Given the description of an element on the screen output the (x, y) to click on. 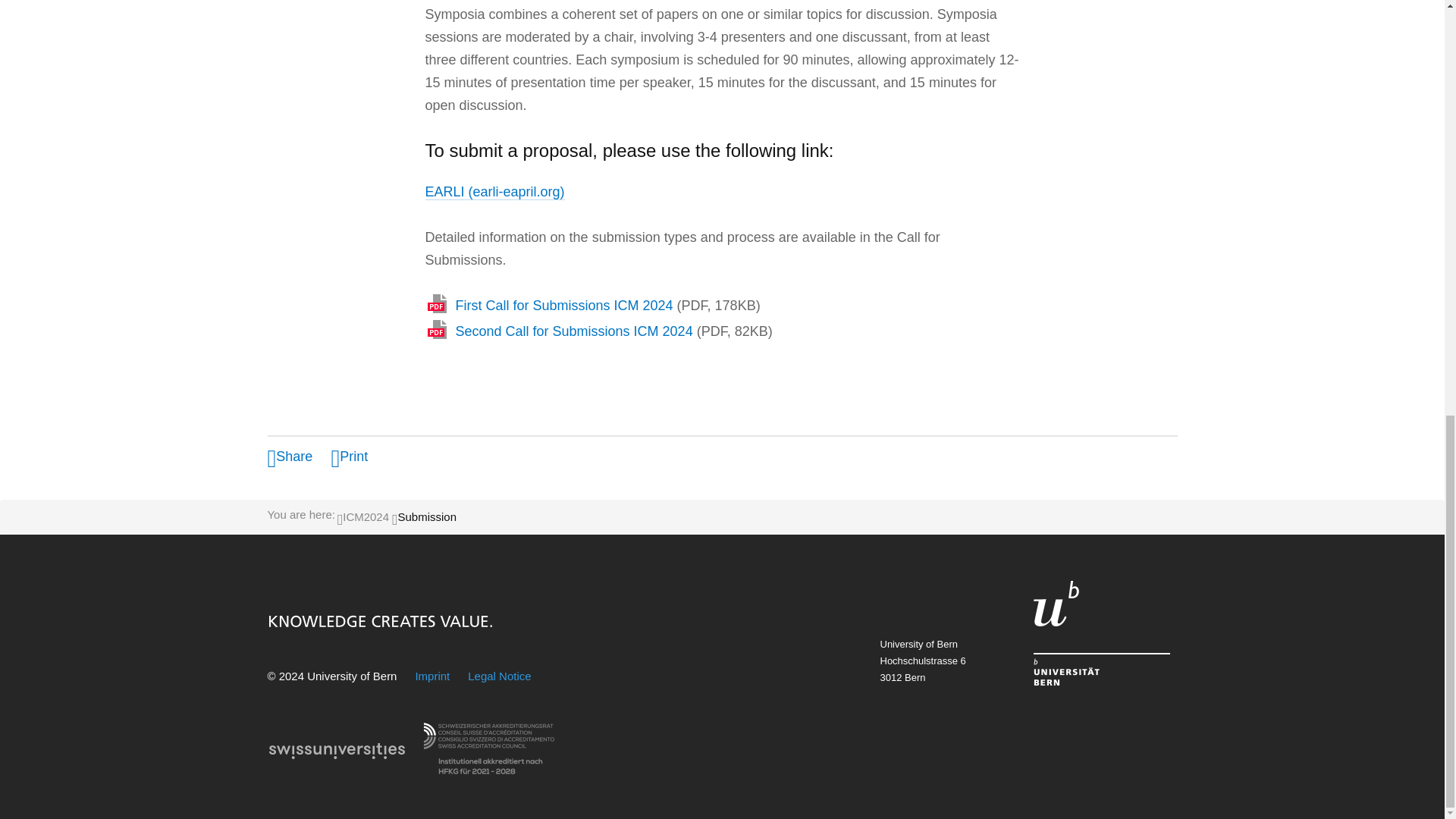
Share (289, 456)
Imprint (431, 675)
Print (349, 456)
ICM2024 (365, 516)
